Given the description of an element on the screen output the (x, y) to click on. 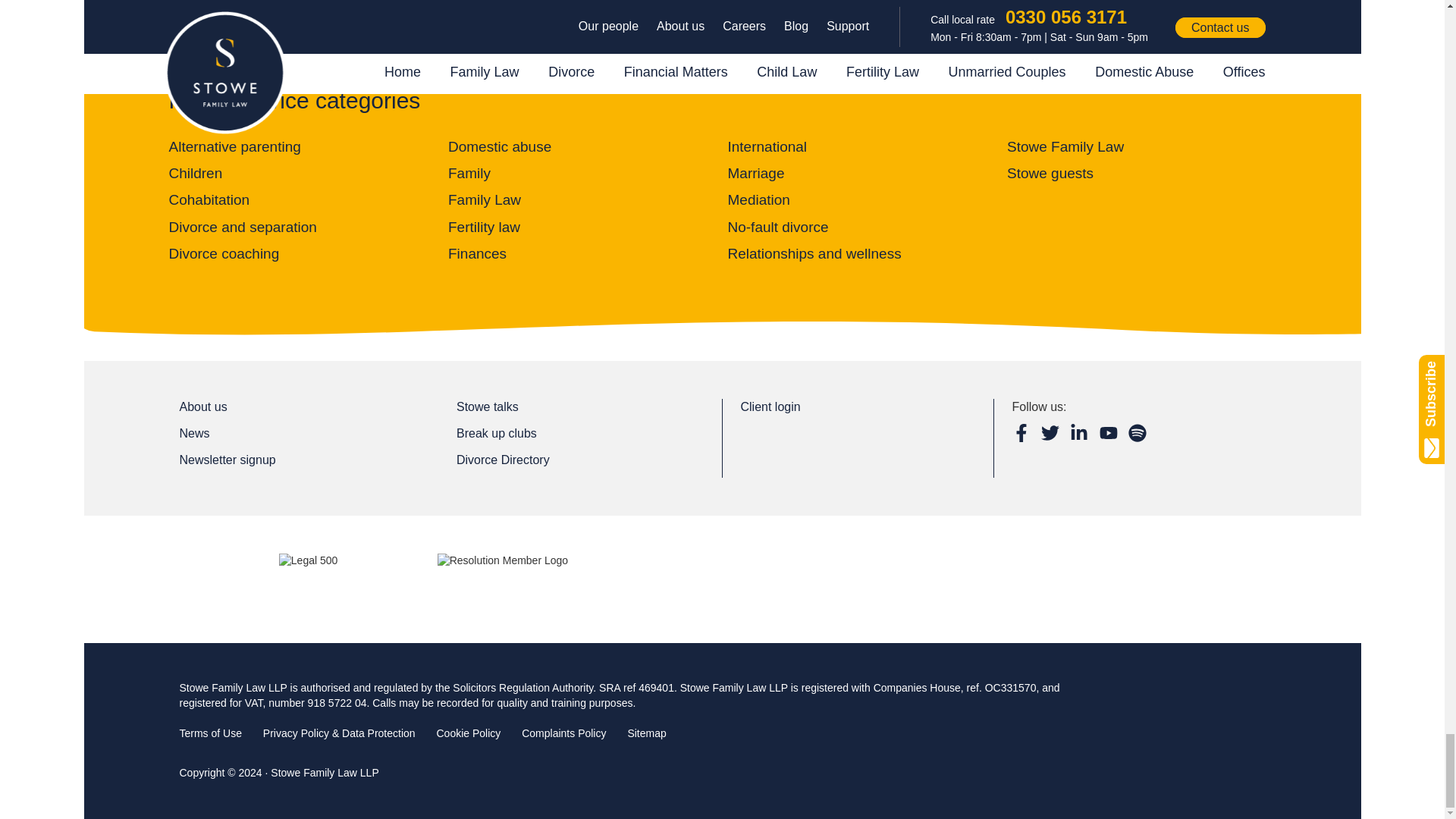
resolution (502, 579)
legal500 (308, 579)
